Given the description of an element on the screen output the (x, y) to click on. 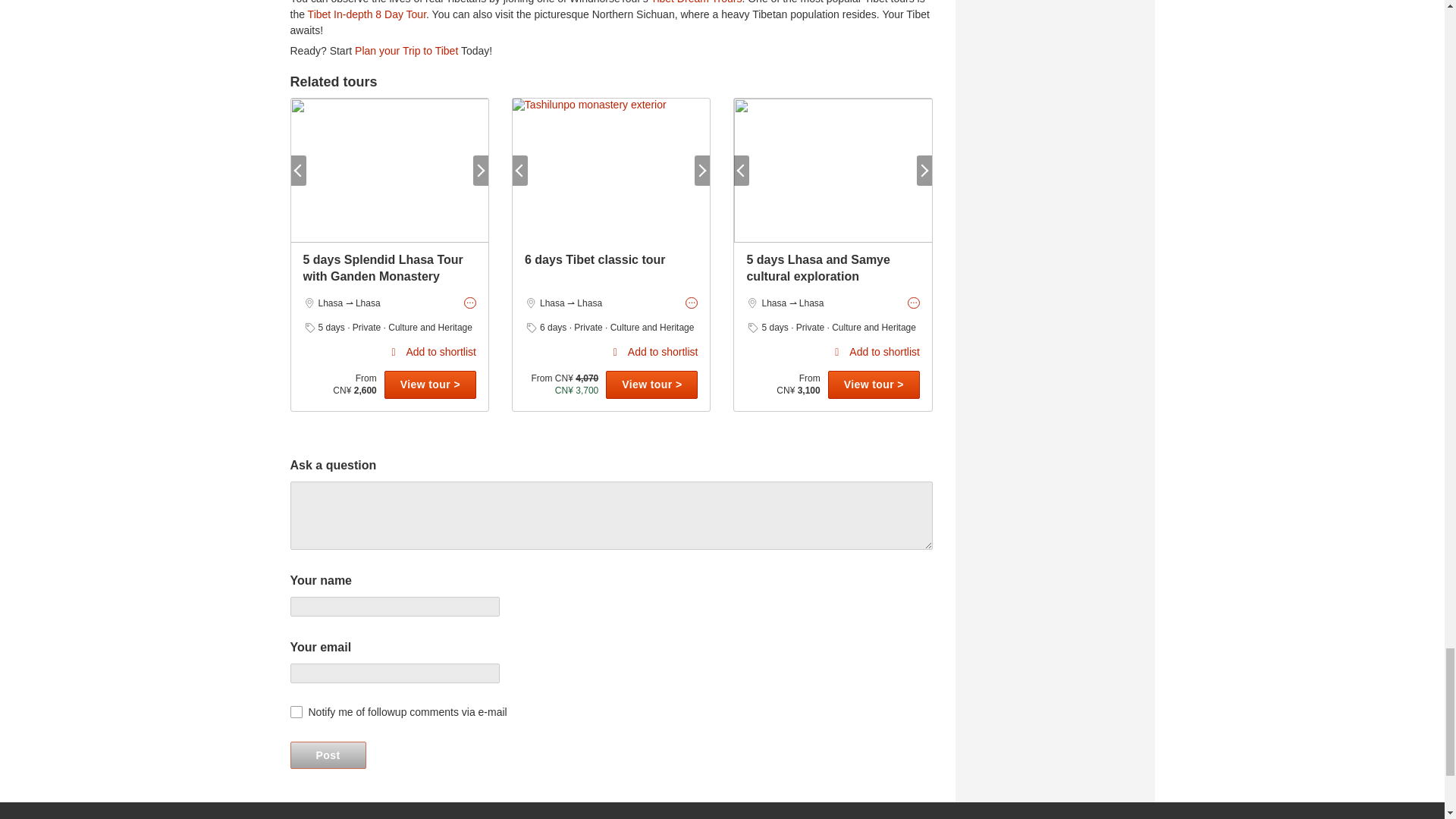
Post (327, 755)
Tashilunpo monastery exterior Tibet (611, 170)
